Given the description of an element on the screen output the (x, y) to click on. 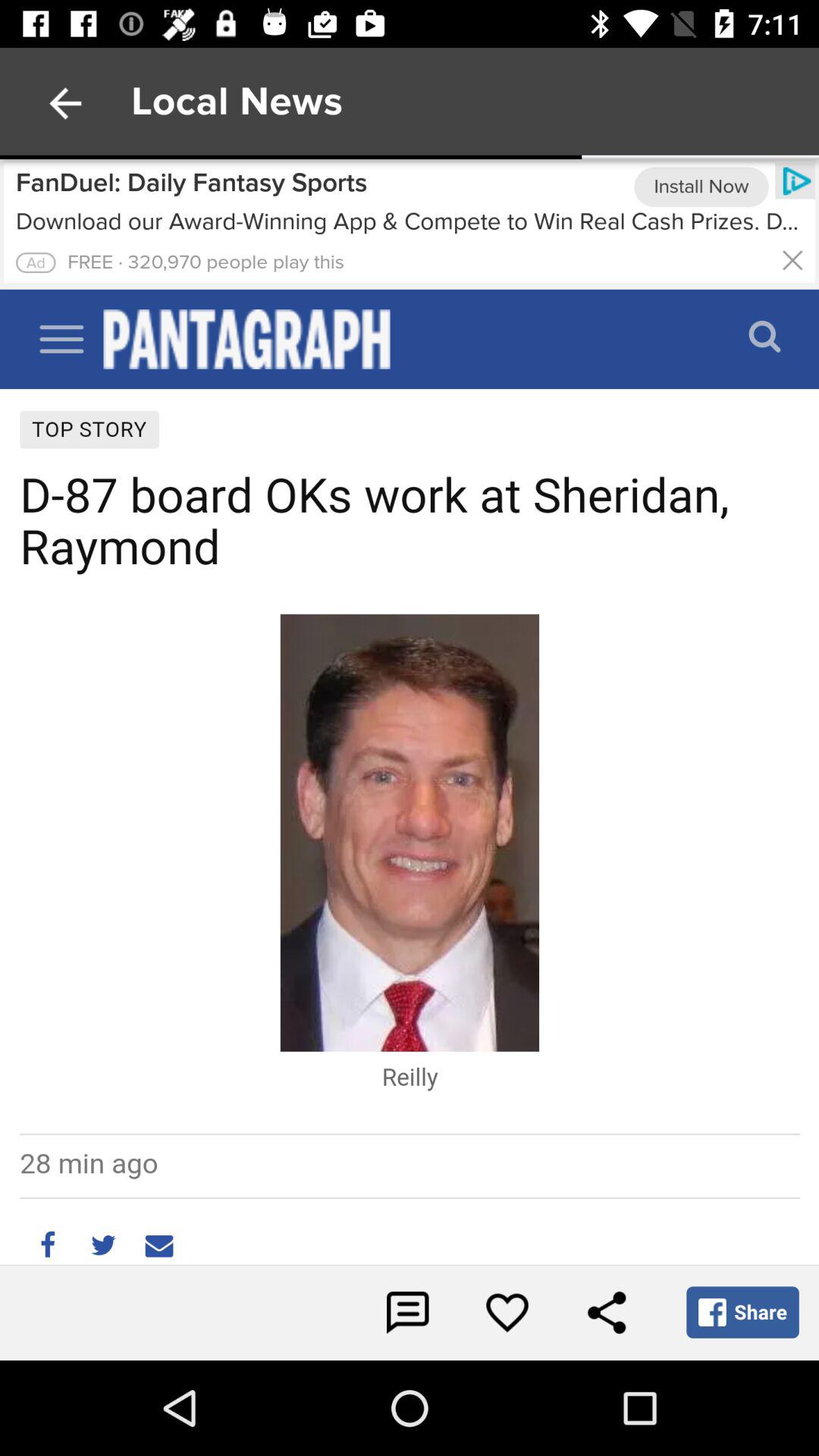
advertisement banner (409, 224)
